Given the description of an element on the screen output the (x, y) to click on. 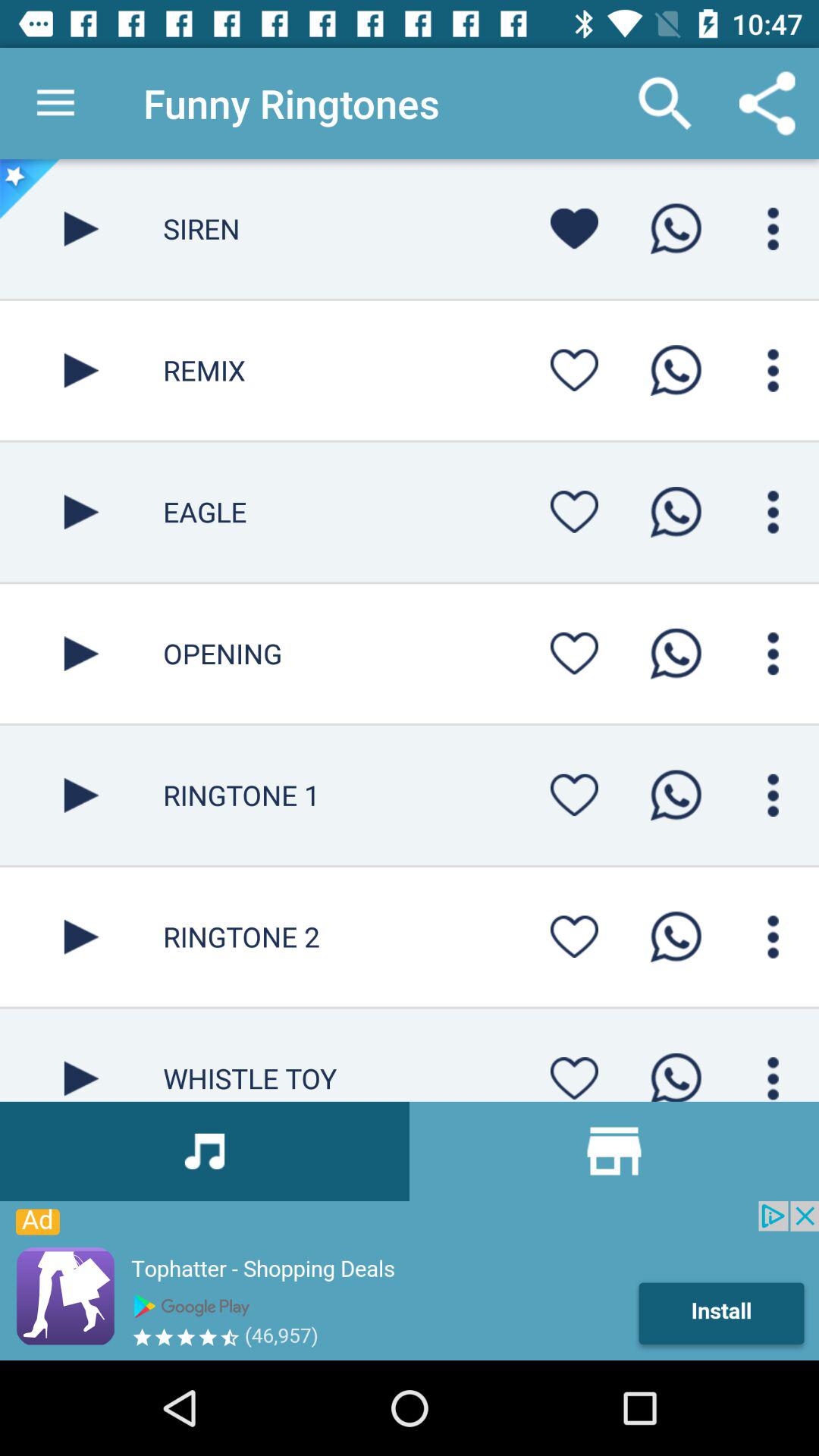
visit advertisement (409, 1280)
